Given the description of an element on the screen output the (x, y) to click on. 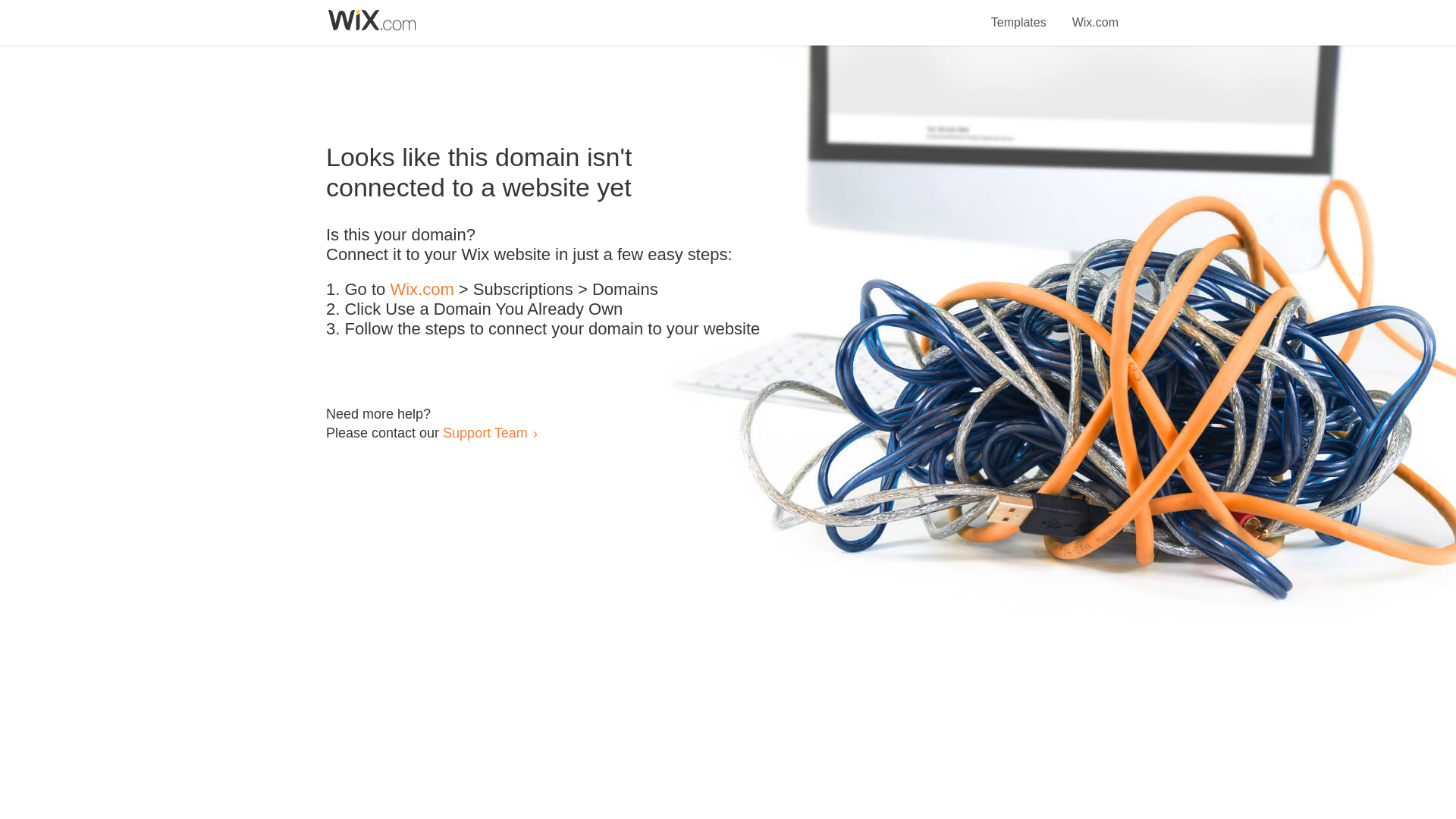
Support Team (484, 432)
Templates (1018, 14)
Wix.com (421, 289)
Wix.com (1095, 14)
